Given the description of an element on the screen output the (x, y) to click on. 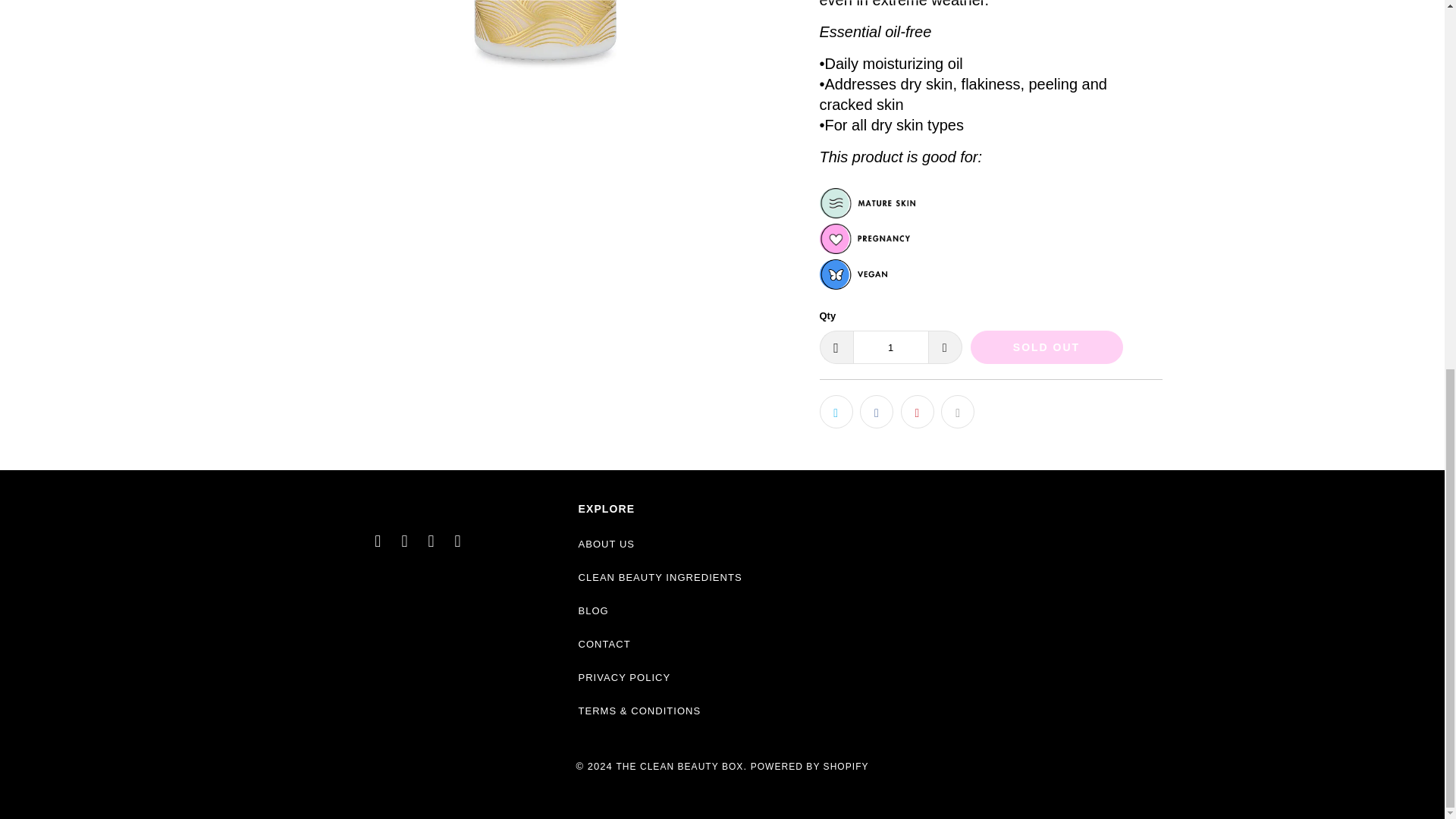
Share this on Pinterest (917, 411)
1 (889, 346)
BLOG (593, 610)
Share this on Facebook (876, 411)
Email this to a friend (957, 411)
The Clean Beauty Box on Facebook (404, 541)
ABOUT US (606, 543)
The Clean Beauty Box on Twitter (378, 541)
CLEAN BEAUTY INGREDIENTS (659, 577)
Share this on Twitter (834, 411)
The Clean Beauty Box on YouTube (431, 541)
SOLD OUT (1046, 346)
The Clean Beauty Box on Instagram (457, 541)
